Given the description of an element on the screen output the (x, y) to click on. 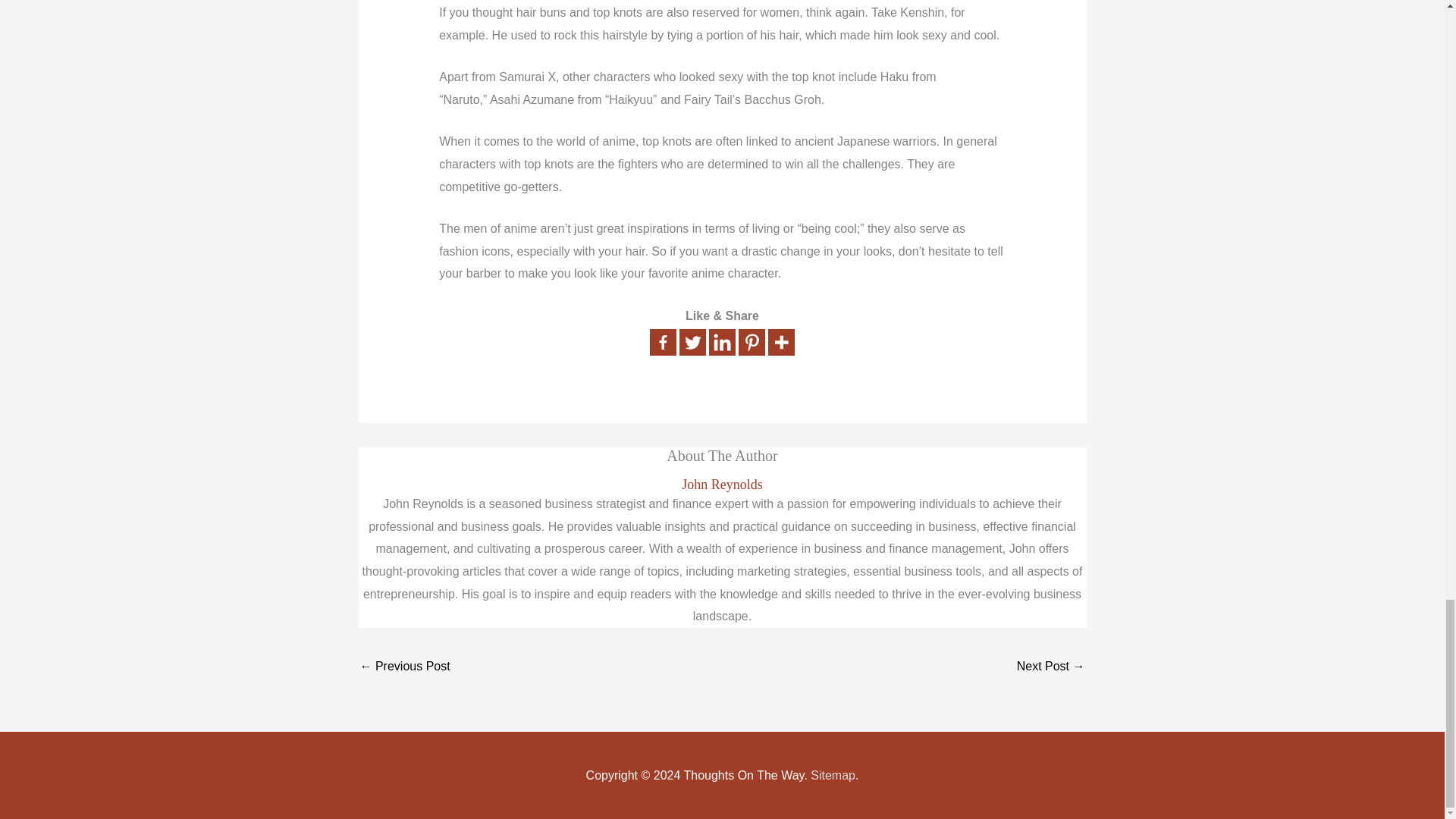
Linkedin (722, 342)
Sitemap (833, 775)
John Reynolds (722, 484)
Twitter (692, 342)
More (781, 342)
Pinterest (751, 342)
Facebook (663, 342)
Moving Ahead in Your Career After A Personal Setback (1050, 667)
